Given the description of an element on the screen output the (x, y) to click on. 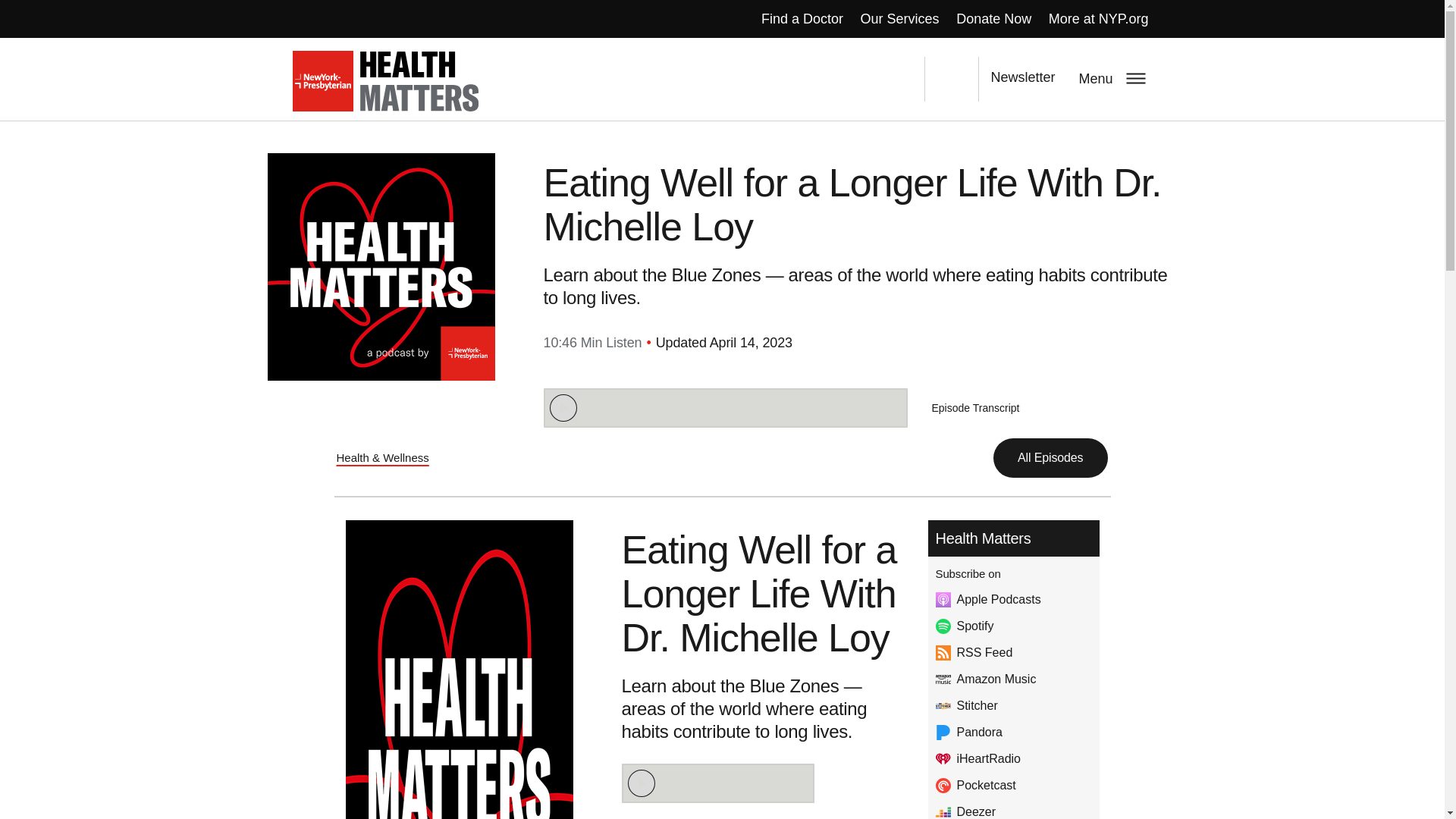
Donate Now (993, 18)
Follow our YouTube channel (862, 78)
Connect on LinkedIn (826, 78)
More at NYP.org (1099, 18)
Skip to content (44, 2)
Newsletter (1021, 78)
Menu (1110, 76)
Follow us on Instagram (897, 78)
Our Services (899, 18)
Like us on Facebook (792, 78)
Find a Doctor (802, 18)
